Given the description of an element on the screen output the (x, y) to click on. 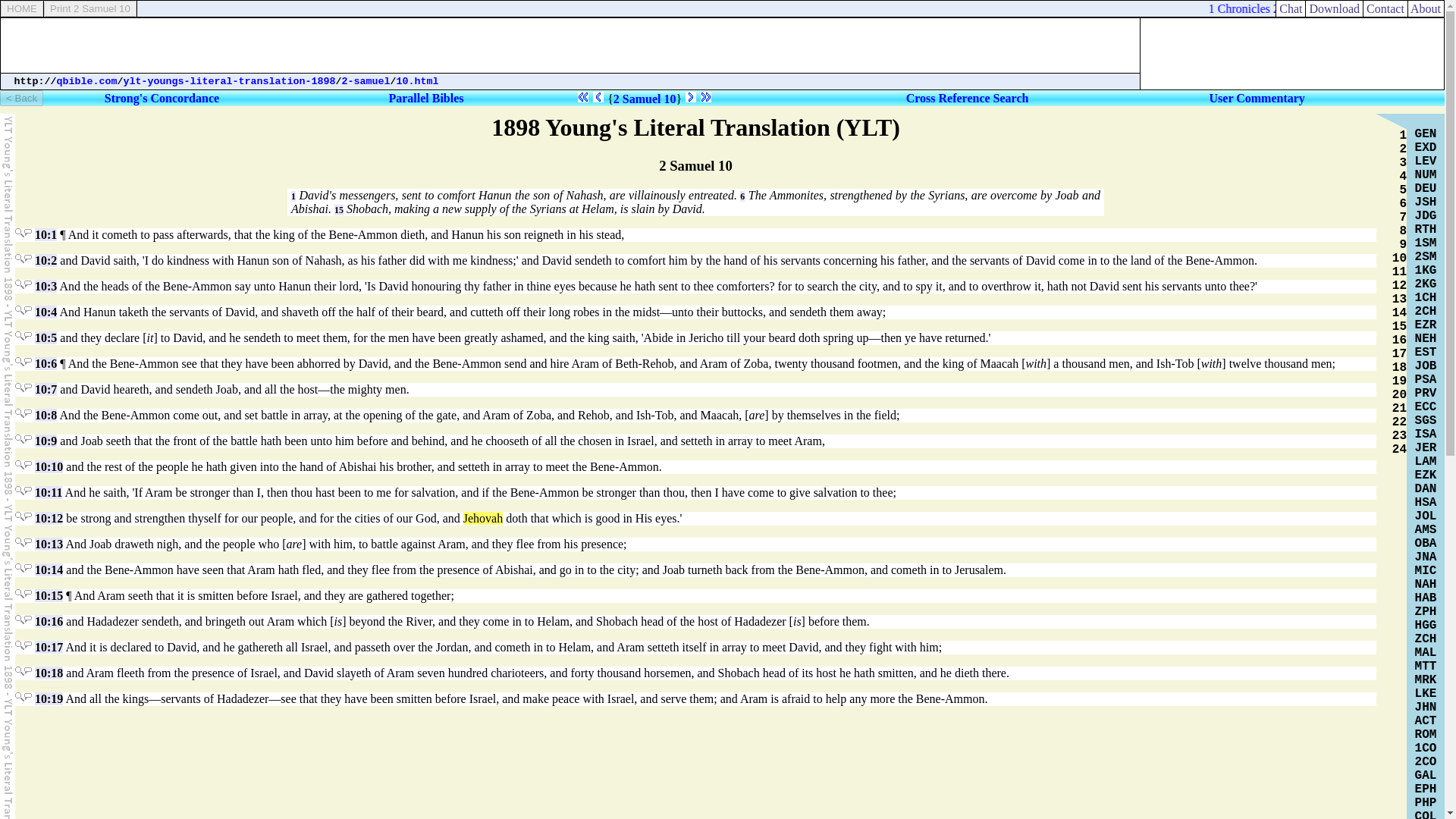
Jehovah (482, 517)
10:6 (45, 363)
10:8 (45, 414)
10:3 (45, 286)
10:11 (48, 492)
HOME (22, 8)
10:5 (45, 337)
10:12 (48, 517)
10:4 (45, 311)
10:1 (45, 234)
10:10 (48, 466)
10:9 (45, 440)
10:2 (45, 259)
Print 2 Samuel 10 (89, 8)
10:7 (45, 389)
